Given the description of an element on the screen output the (x, y) to click on. 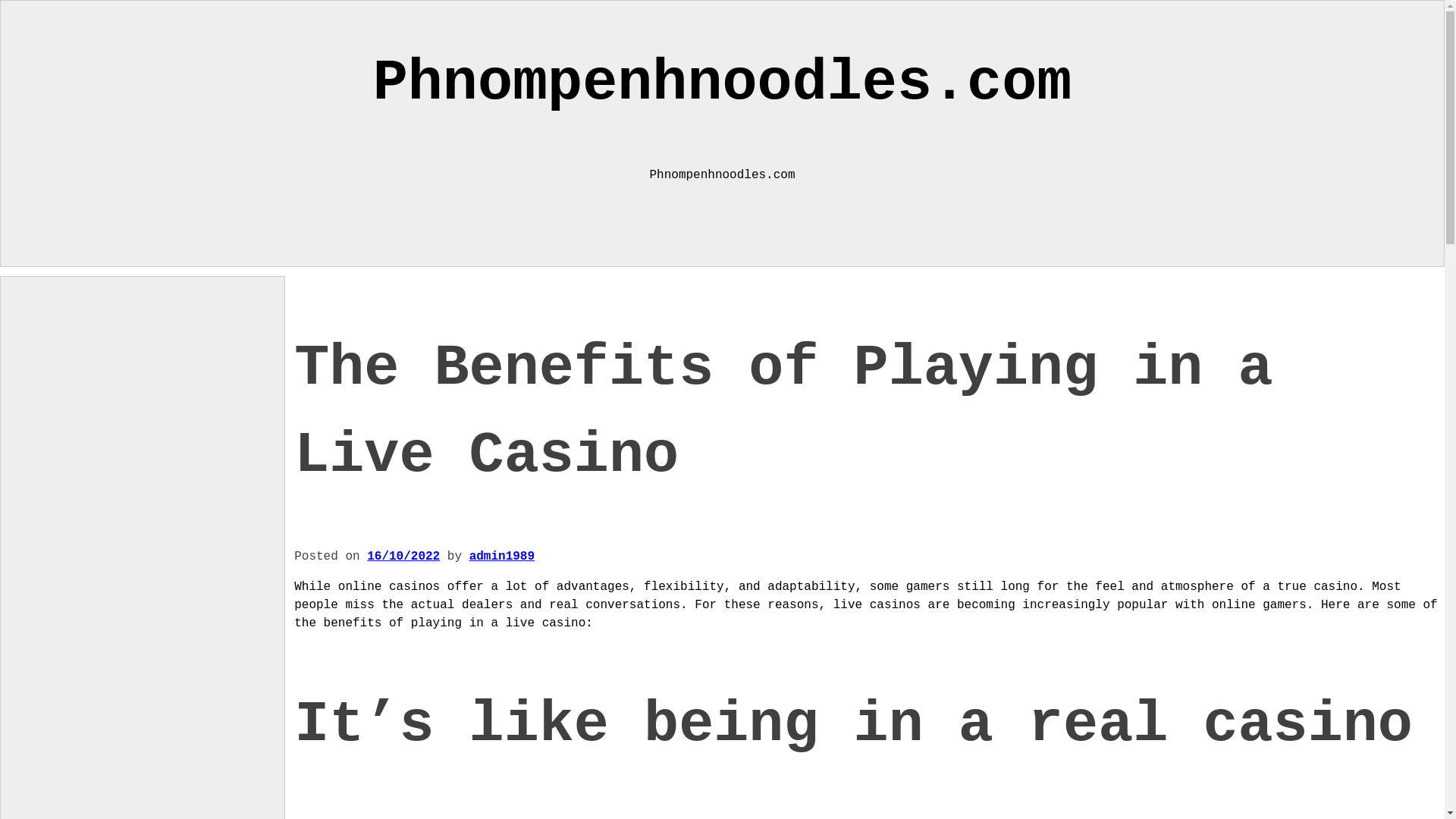
Phnompenhnoodles.com (721, 82)
admin1989 (501, 556)
